Given the description of an element on the screen output the (x, y) to click on. 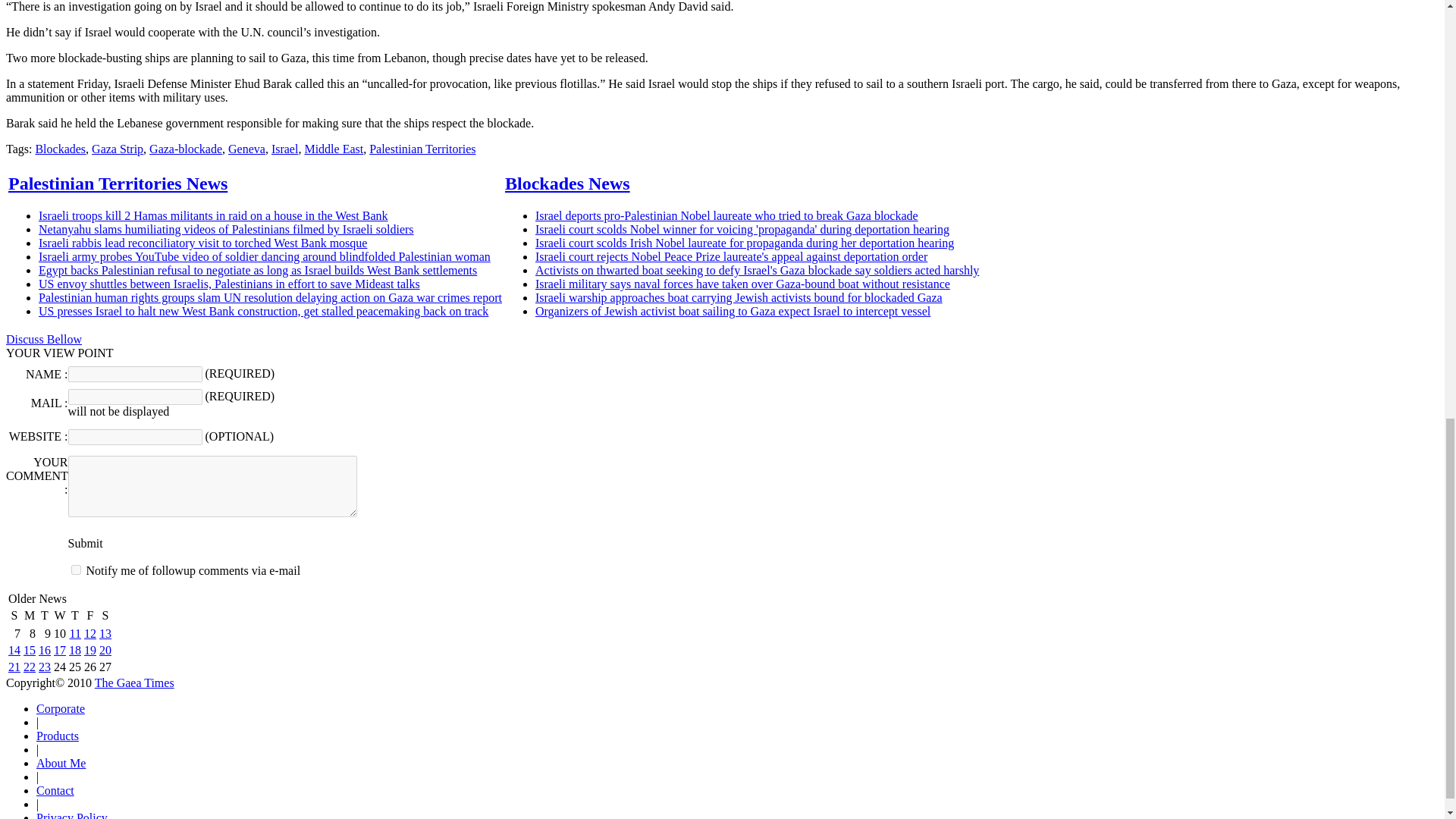
Geneva (246, 148)
Middle East (333, 148)
Gaza Strip (116, 148)
Gaza-blockade (185, 148)
Blockades (59, 148)
Israel (284, 148)
subscribe (76, 569)
